Given the description of an element on the screen output the (x, y) to click on. 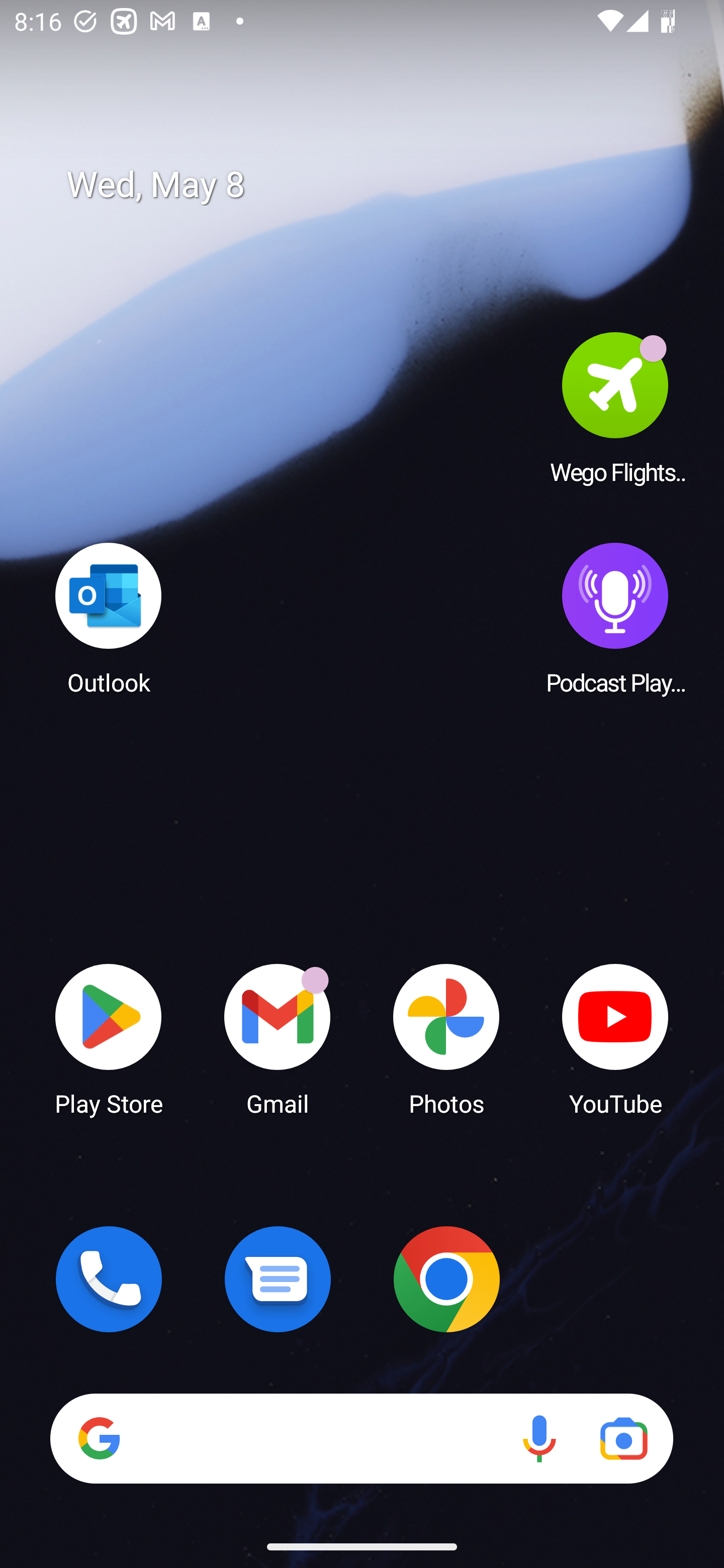
Wed, May 8 (375, 184)
Outlook (108, 617)
Podcast Player (615, 617)
Play Store (108, 1038)
Gmail Gmail has 17 notifications (277, 1038)
Photos (445, 1038)
YouTube (615, 1038)
Phone (108, 1279)
Messages (277, 1279)
Chrome (446, 1279)
Search Voice search Google Lens (361, 1438)
Voice search (539, 1438)
Google Lens (623, 1438)
